Given the description of an element on the screen output the (x, y) to click on. 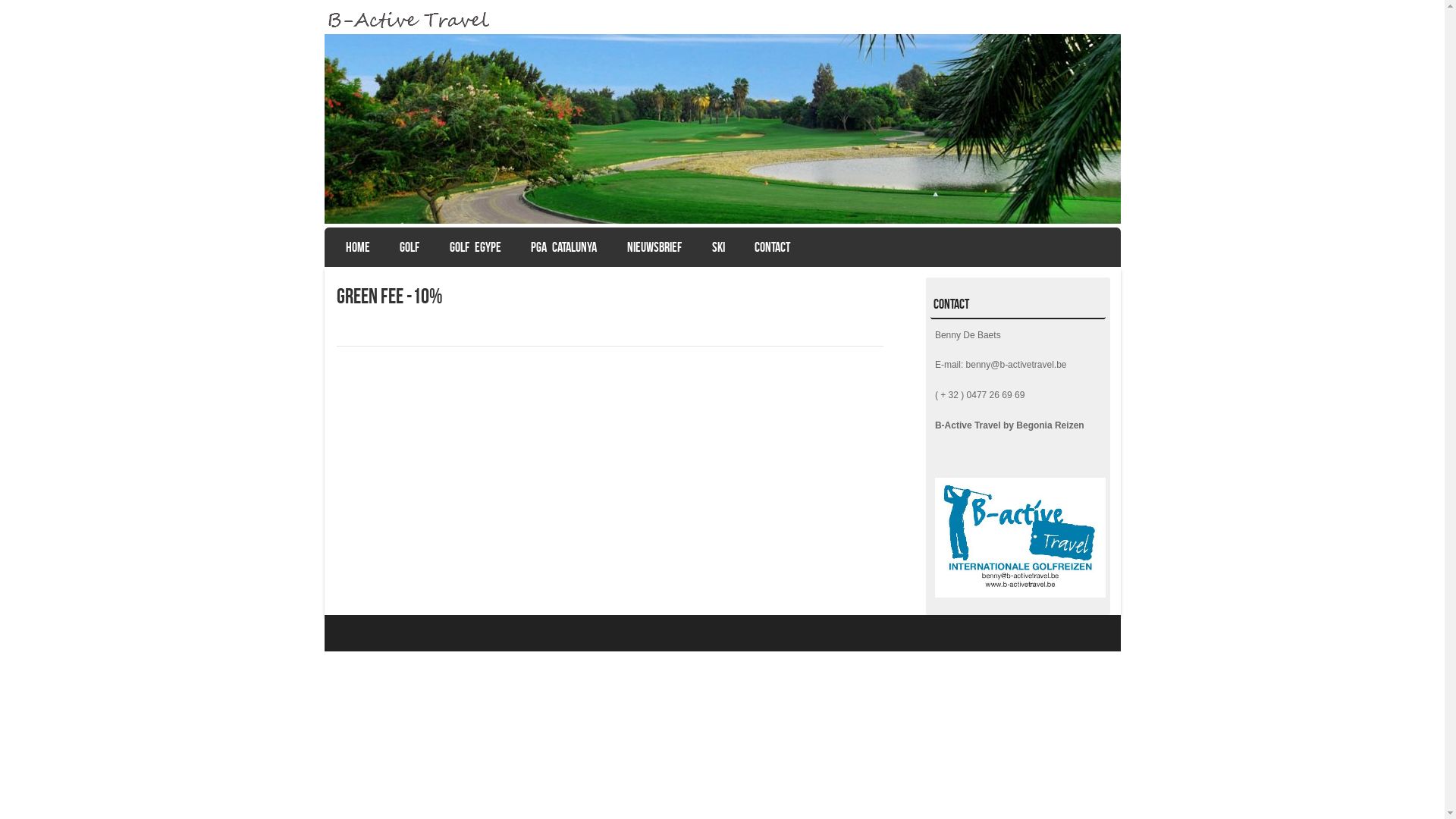
NIEUWSBRIEF Element type: text (654, 246)
GOLF EGYPE Element type: text (475, 246)
SKIP TO CONTENT Element type: text (371, 243)
HOME Element type: text (357, 246)
b-activetravel Element type: hover (722, 20)
SKI Element type: text (718, 246)
PGA CATALUNYA Element type: text (564, 246)
GOLF Element type: text (409, 246)
CONTACT Element type: text (772, 246)
b-activetravel Element type: hover (722, 128)
